Given the description of an element on the screen output the (x, y) to click on. 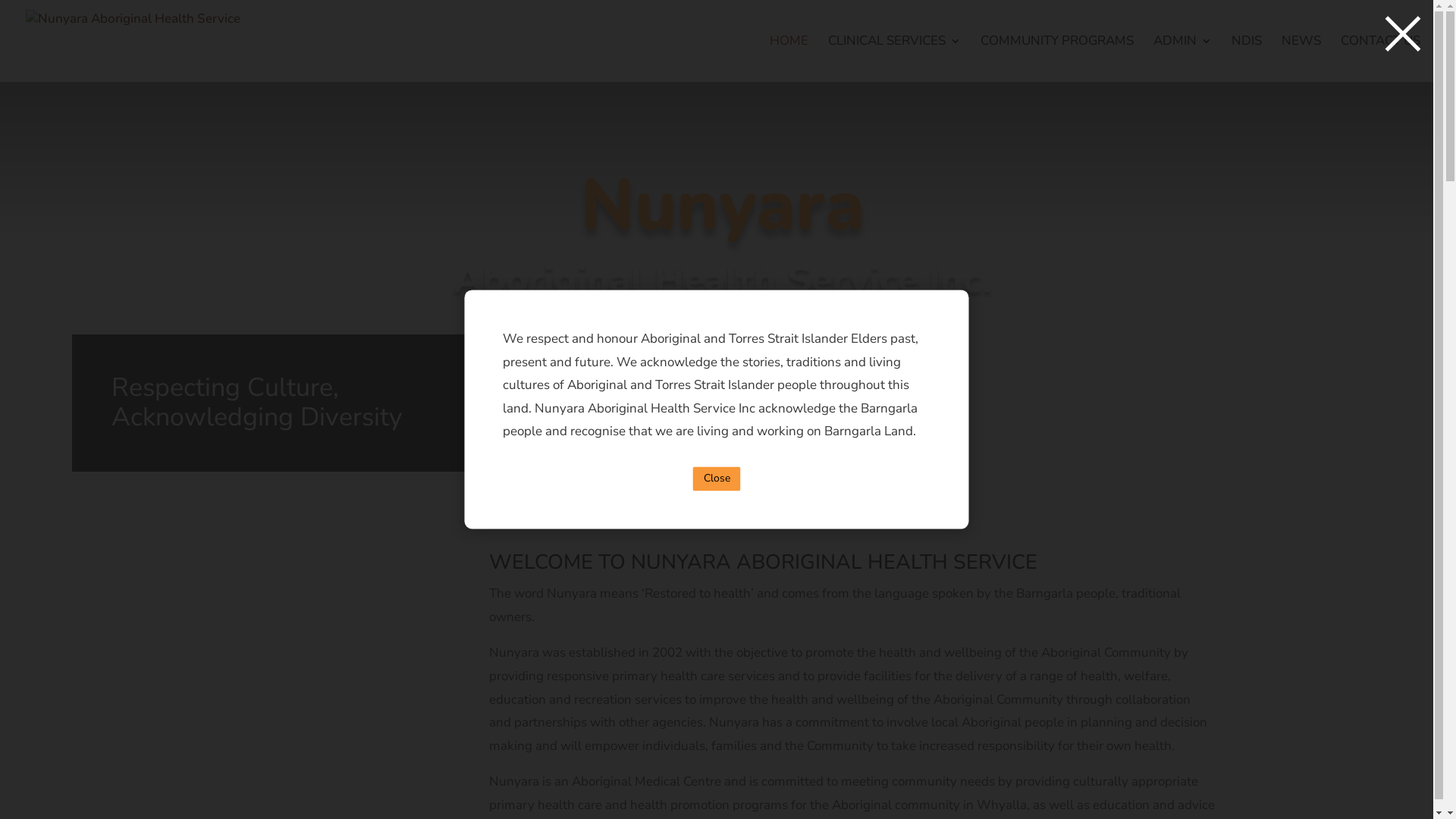
HOME Element type: text (788, 58)
NEWS Element type: text (1301, 58)
COMMUNITY PROGRAMS Element type: text (1056, 58)
CONTACT US Element type: text (1380, 58)
Close Element type: text (716, 478)
NDIS Element type: text (1246, 58)
CLINICAL SERVICES Element type: text (894, 58)
ADMIN Element type: text (1182, 58)
